Given the description of an element on the screen output the (x, y) to click on. 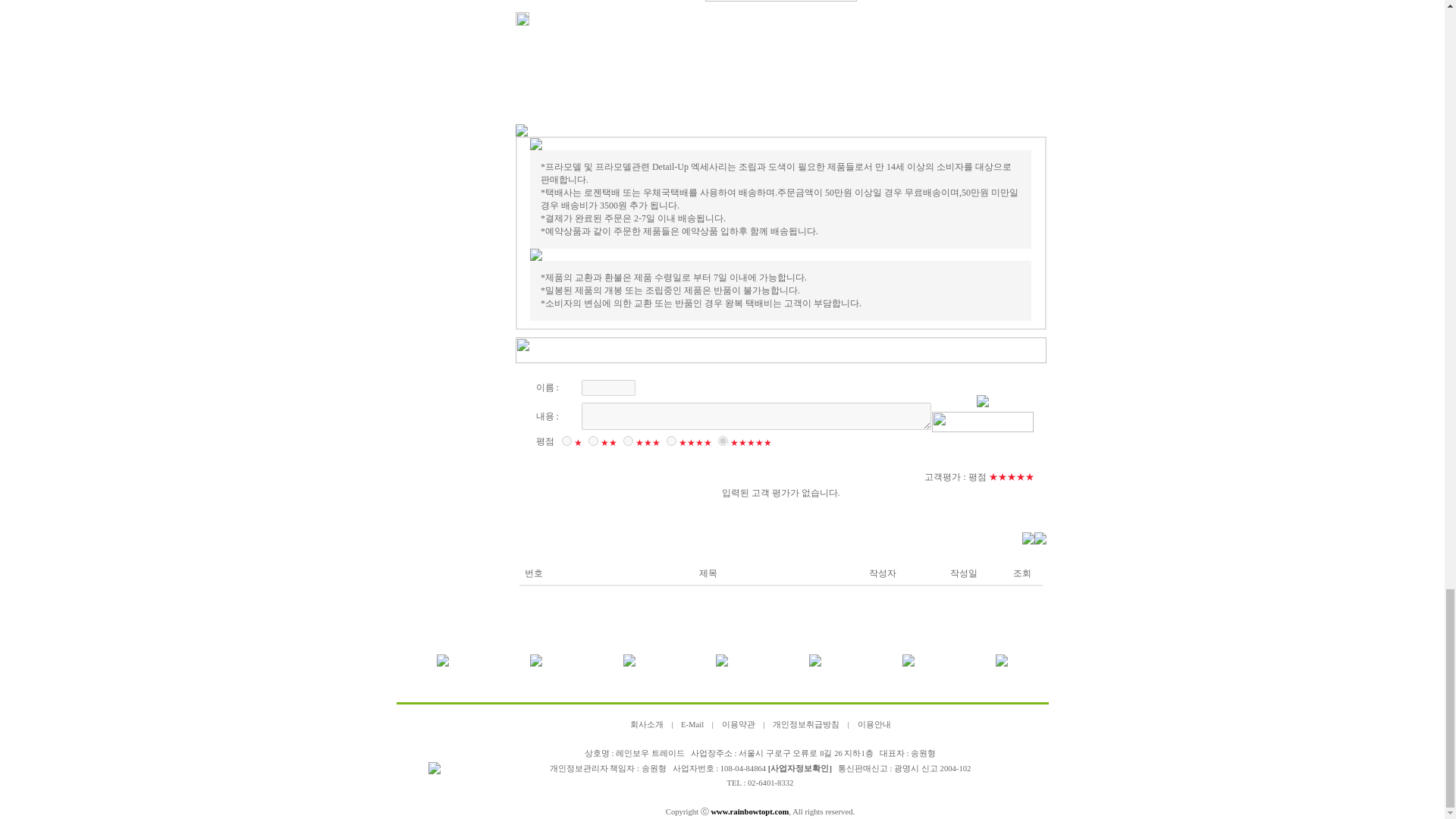
5 (721, 440)
4 (670, 440)
Edit Post (522, 22)
1 (565, 440)
2 (593, 440)
3 (628, 440)
